Given the description of an element on the screen output the (x, y) to click on. 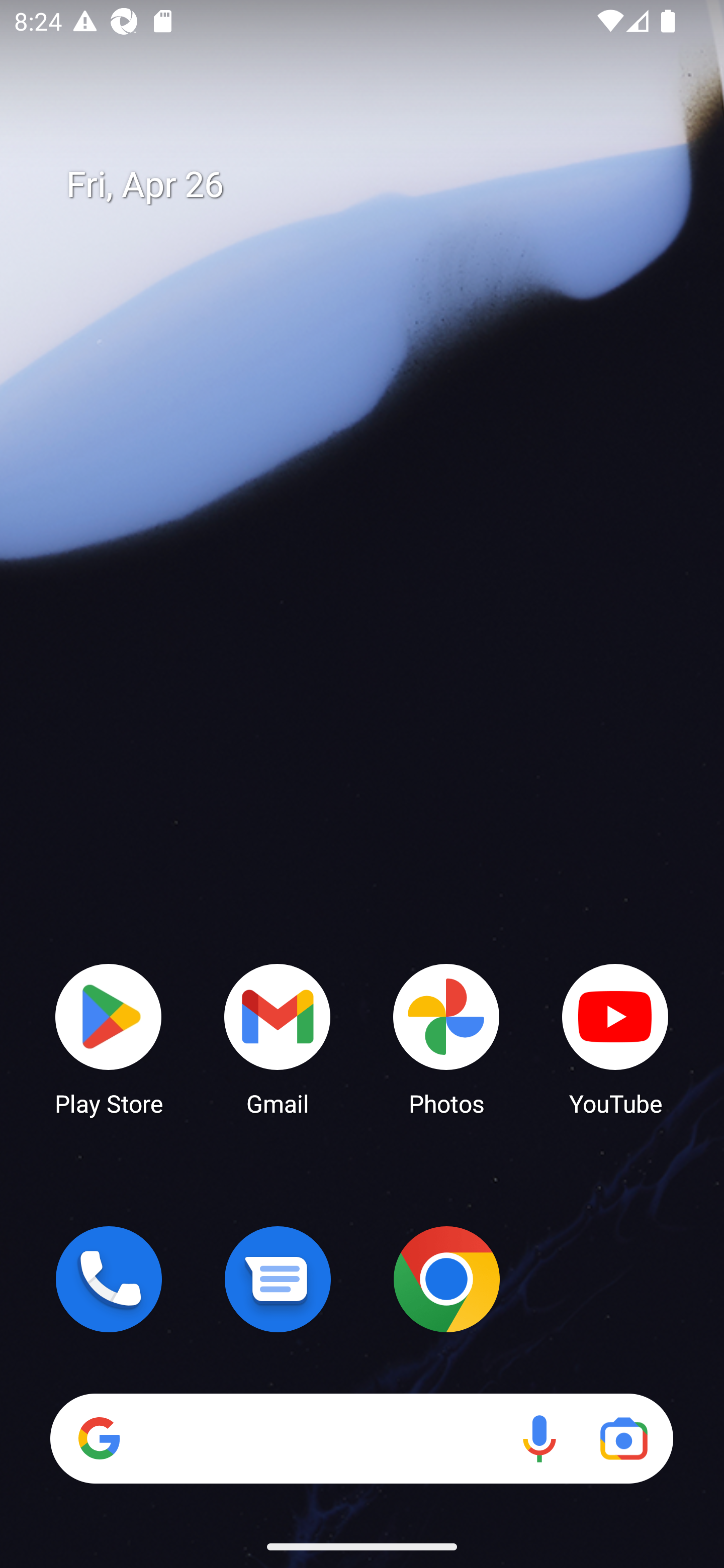
Fri, Apr 26 (375, 184)
Play Store (108, 1038)
Gmail (277, 1038)
Photos (445, 1038)
YouTube (615, 1038)
Phone (108, 1279)
Messages (277, 1279)
Chrome (446, 1279)
Search Voice search Google Lens (361, 1438)
Voice search (539, 1438)
Google Lens (623, 1438)
